Given the description of an element on the screen output the (x, y) to click on. 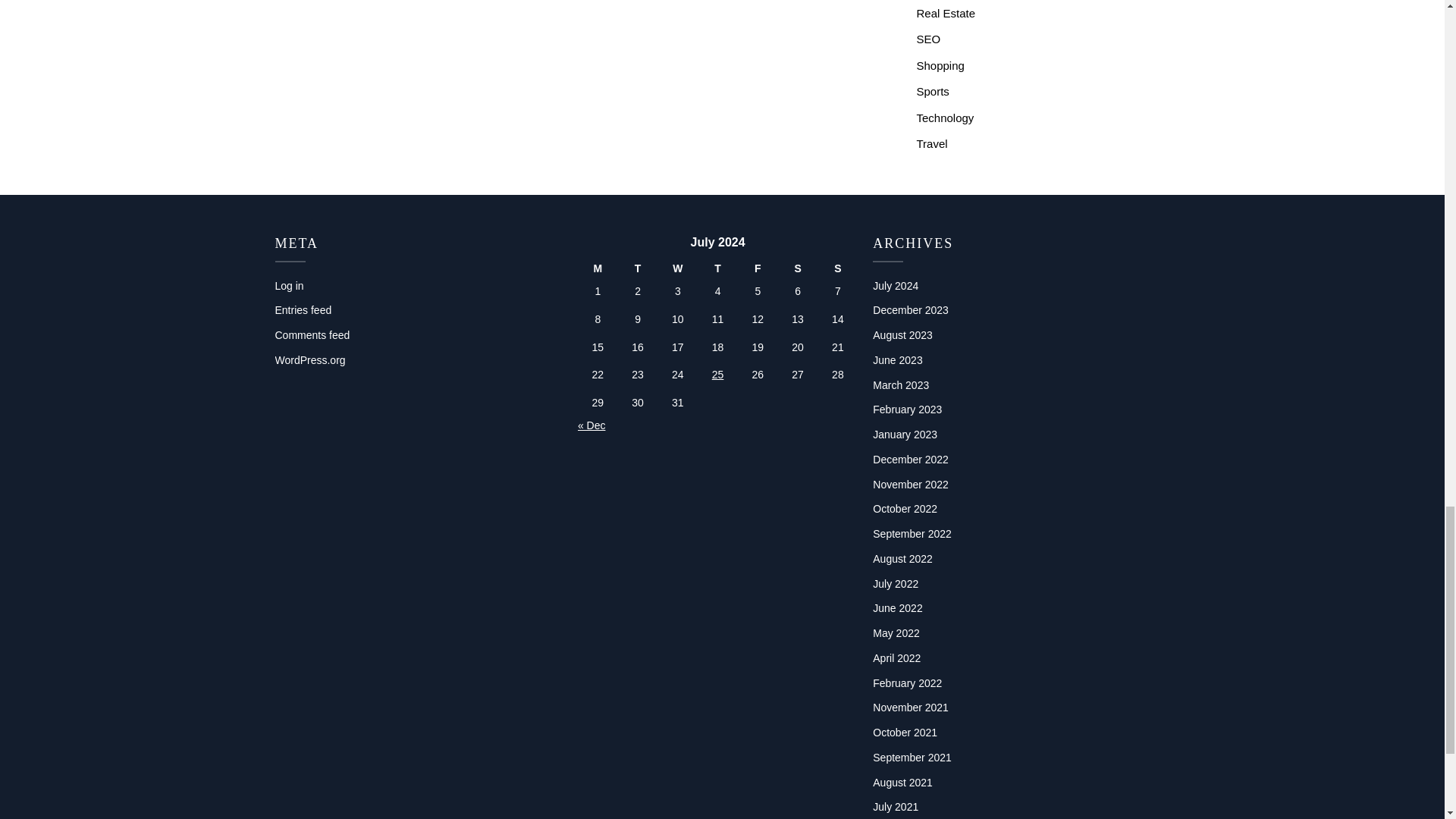
Technology (944, 117)
Entries feed (303, 309)
Sports (932, 91)
Real Estate (945, 12)
Log in (288, 285)
Monday (597, 268)
Shopping (939, 65)
Saturday (797, 268)
Thursday (717, 268)
Comments feed (312, 335)
Tuesday (637, 268)
Friday (757, 268)
Travel (931, 143)
Wednesday (677, 268)
SEO (927, 38)
